Given the description of an element on the screen output the (x, y) to click on. 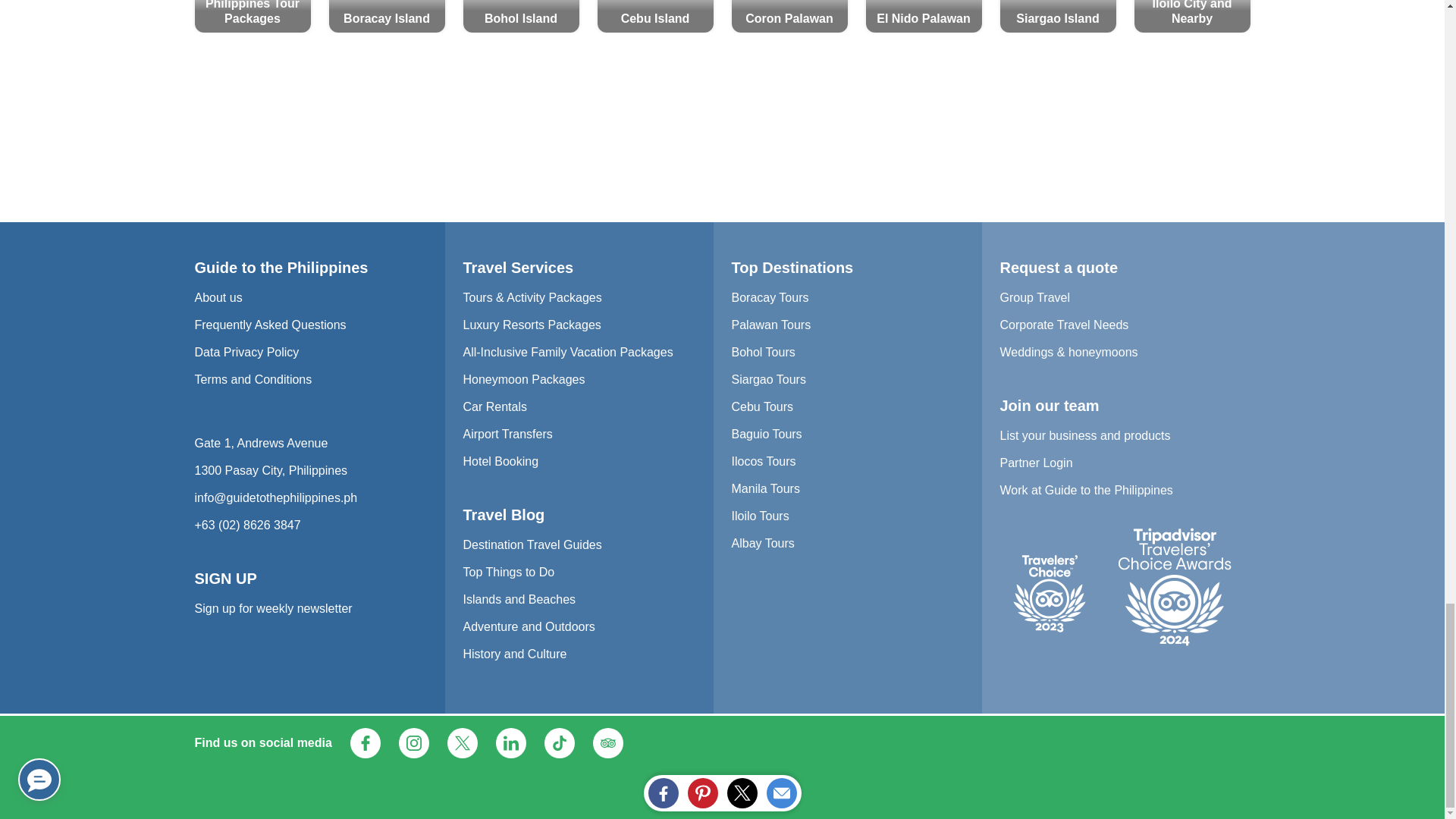
Boracay Island (387, 16)
Boracay Island (387, 16)
El Nido Palawan (924, 16)
Philippines Tour Packages (251, 16)
Siargao Island (1057, 16)
Coron Palawan (789, 16)
Bohol Island (520, 16)
Philippines Tour Packages (251, 16)
Cebu Island (655, 16)
Bohol Island (520, 16)
Cebu Island (655, 16)
